Given the description of an element on the screen output the (x, y) to click on. 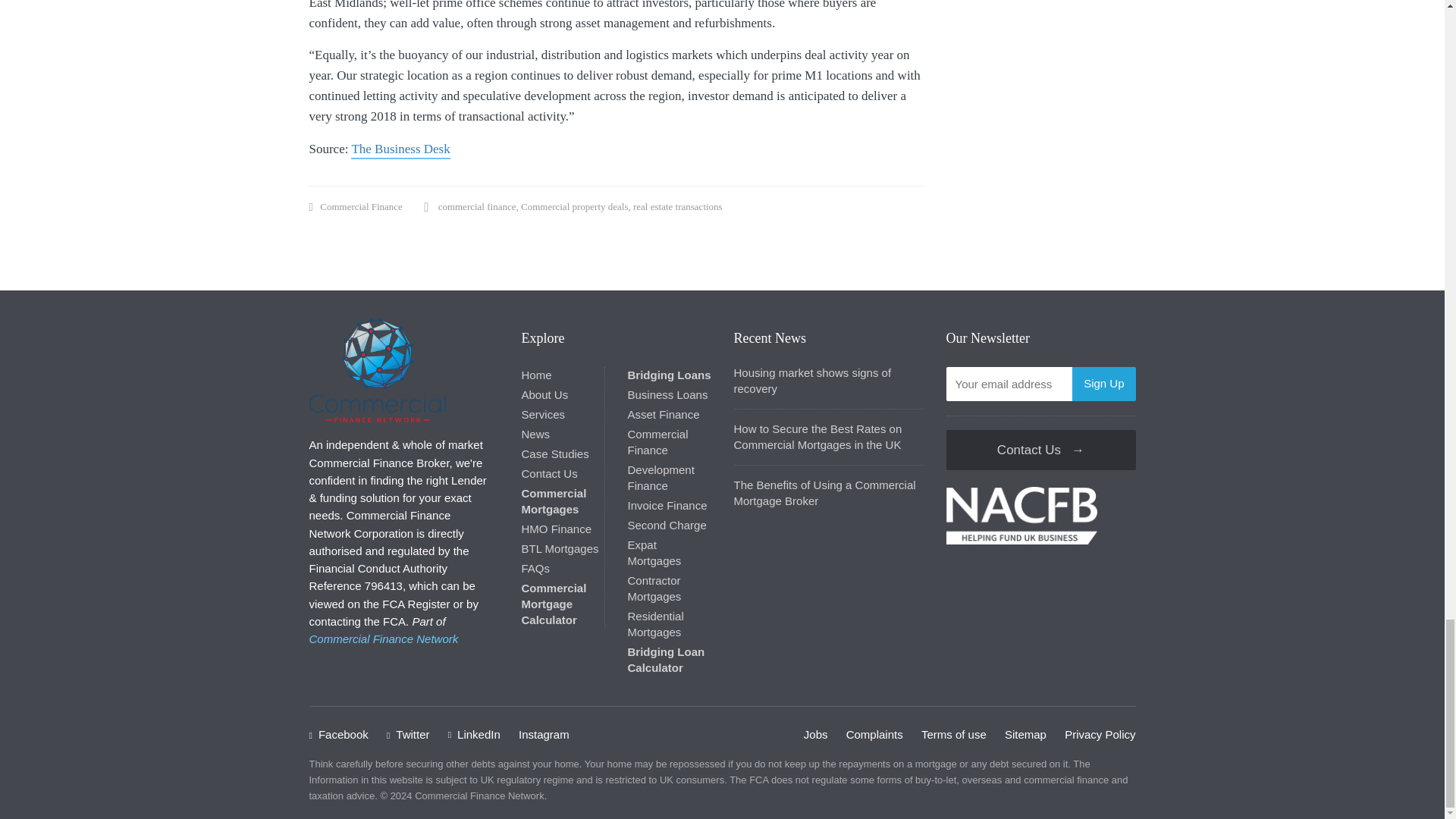
Sign up (1103, 383)
